Given the description of an element on the screen output the (x, y) to click on. 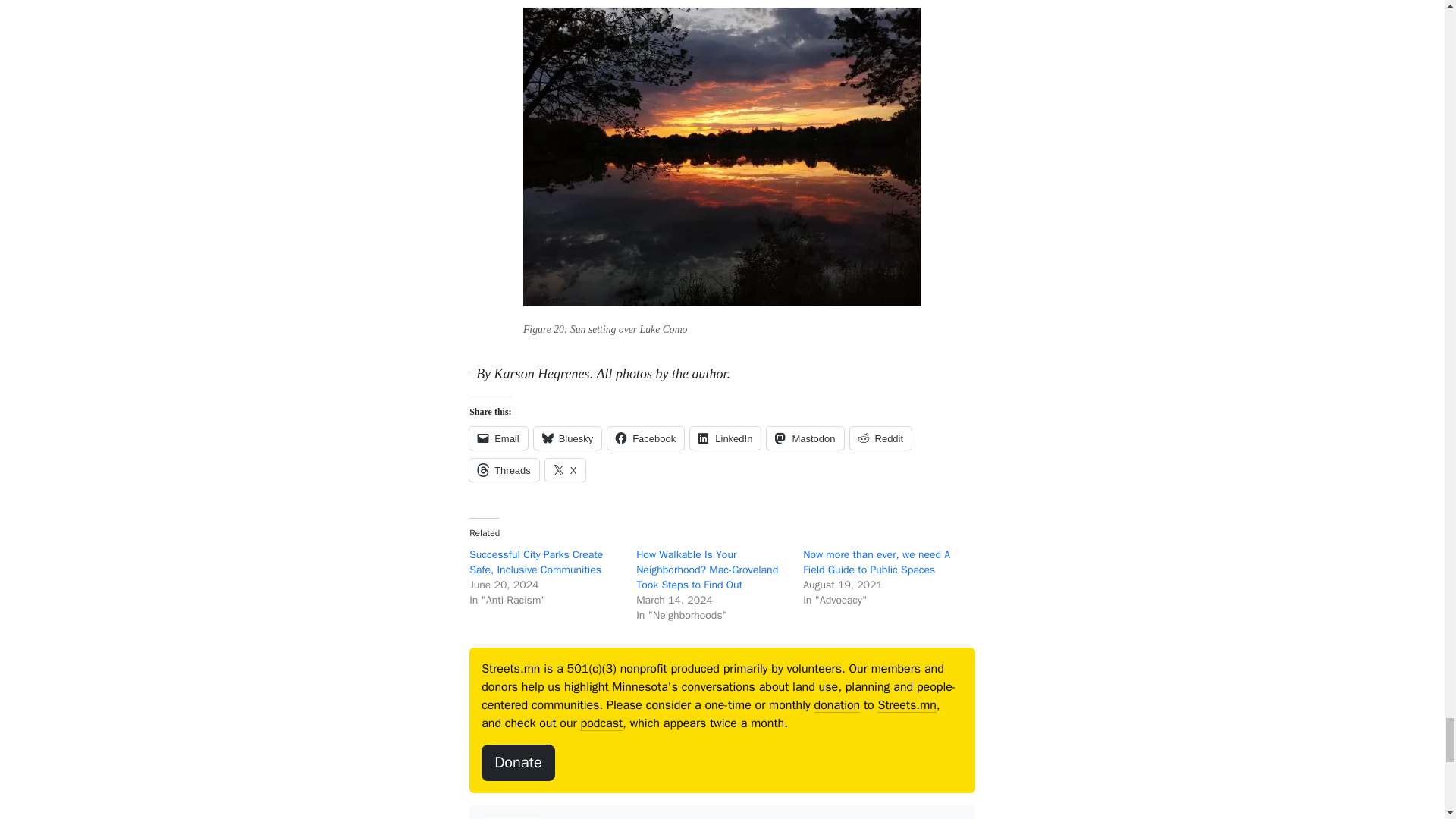
Successful City Parks Create Safe, Inclusive Communities (535, 561)
Click to share on X (564, 469)
Click to share on Threads (503, 469)
Click to share on LinkedIn (725, 437)
Now more than ever, we need A Field Guide to Public Spaces (876, 561)
Click to share on Bluesky (568, 437)
Facebook (645, 437)
Click to share on Mastodon (805, 437)
Click to email a link to a friend (497, 437)
Email (497, 437)
Click to share on Reddit (881, 437)
Bluesky (568, 437)
Click to share on Facebook (645, 437)
